Given the description of an element on the screen output the (x, y) to click on. 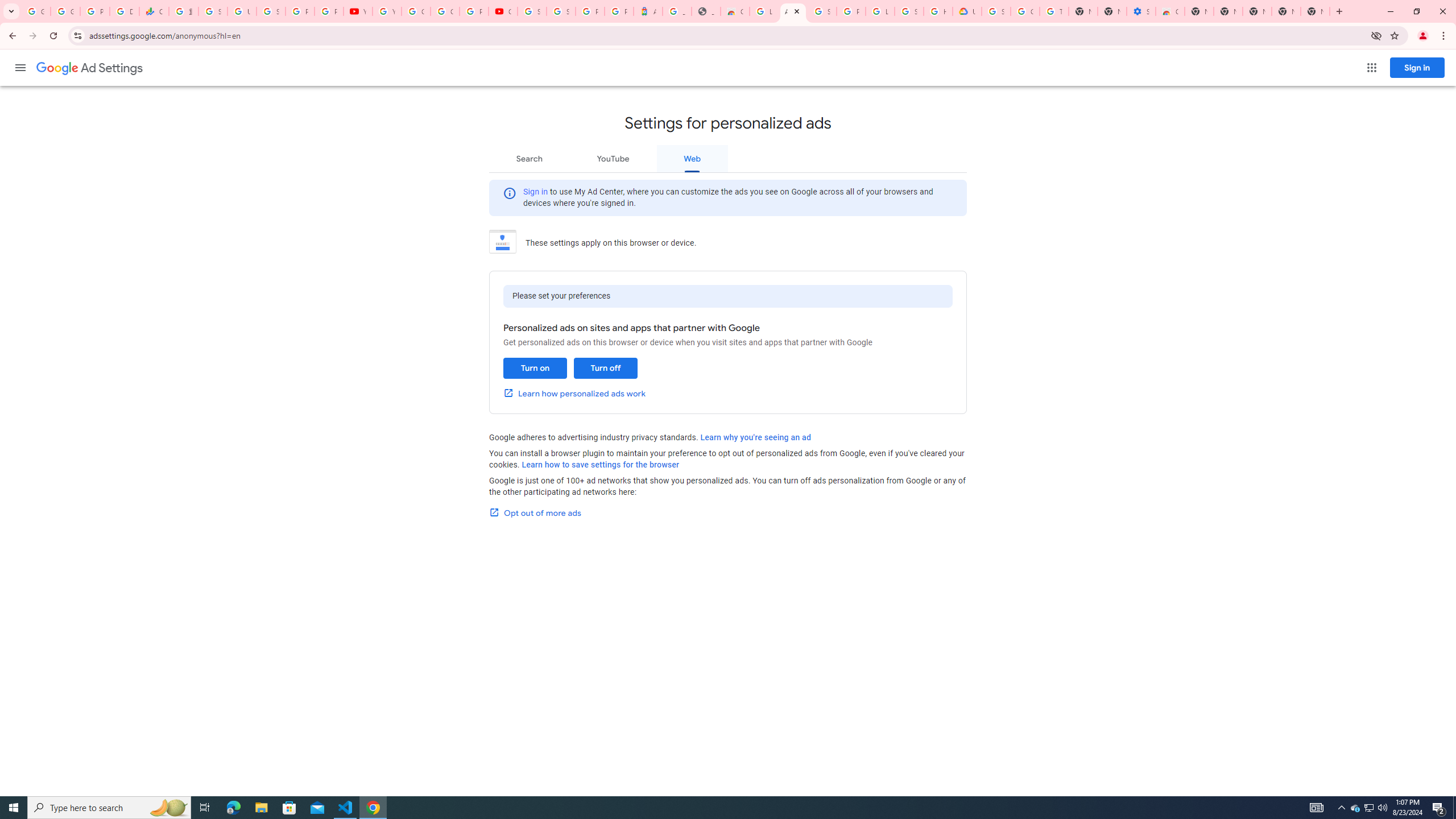
Atour Hotel - Google hotels (648, 11)
Sign in - Google Accounts (908, 11)
Settings - Accessibility (1140, 11)
Learn how to save settings for the browser (600, 465)
